Given the description of an element on the screen output the (x, y) to click on. 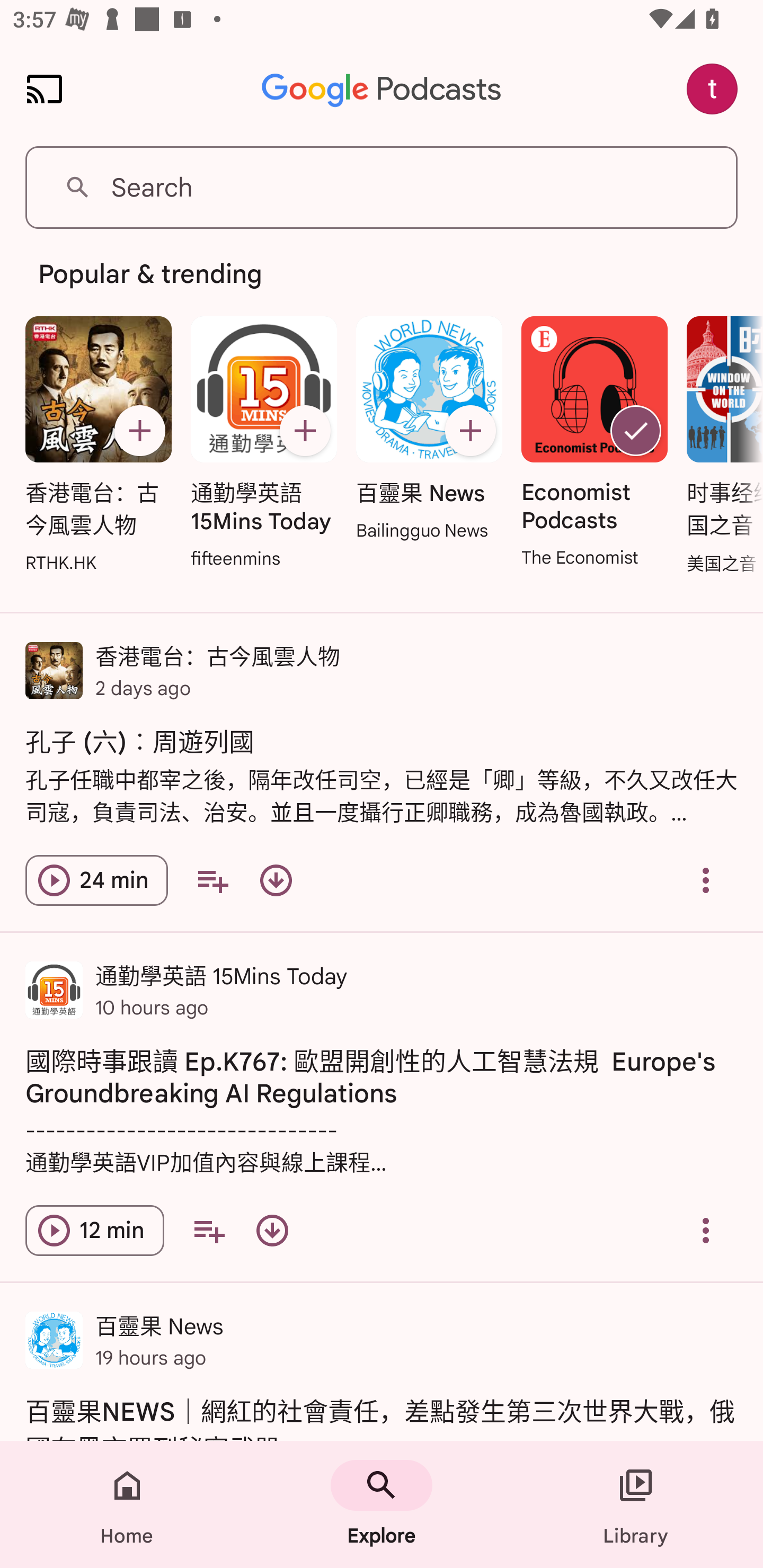
Cast. Disconnected (44, 88)
Search (381, 187)
香港電台：古今風雲人物 Subscribe 香港電台：古今風雲人物 RTHK.HK (98, 445)
百靈果 News Subscribe 百靈果 News Bailingguo News (428, 430)
Subscribe (139, 430)
Subscribe (305, 430)
Subscribe (470, 430)
Unsubscribe (635, 430)
Play episode 孔子 (六)︰周遊列國 24 min (96, 880)
Add to your queue (212, 880)
Download episode (275, 880)
Overflow menu (705, 880)
Add to your queue (208, 1229)
Download episode (272, 1229)
Overflow menu (705, 1229)
Home (127, 1504)
Library (635, 1504)
